Given the description of an element on the screen output the (x, y) to click on. 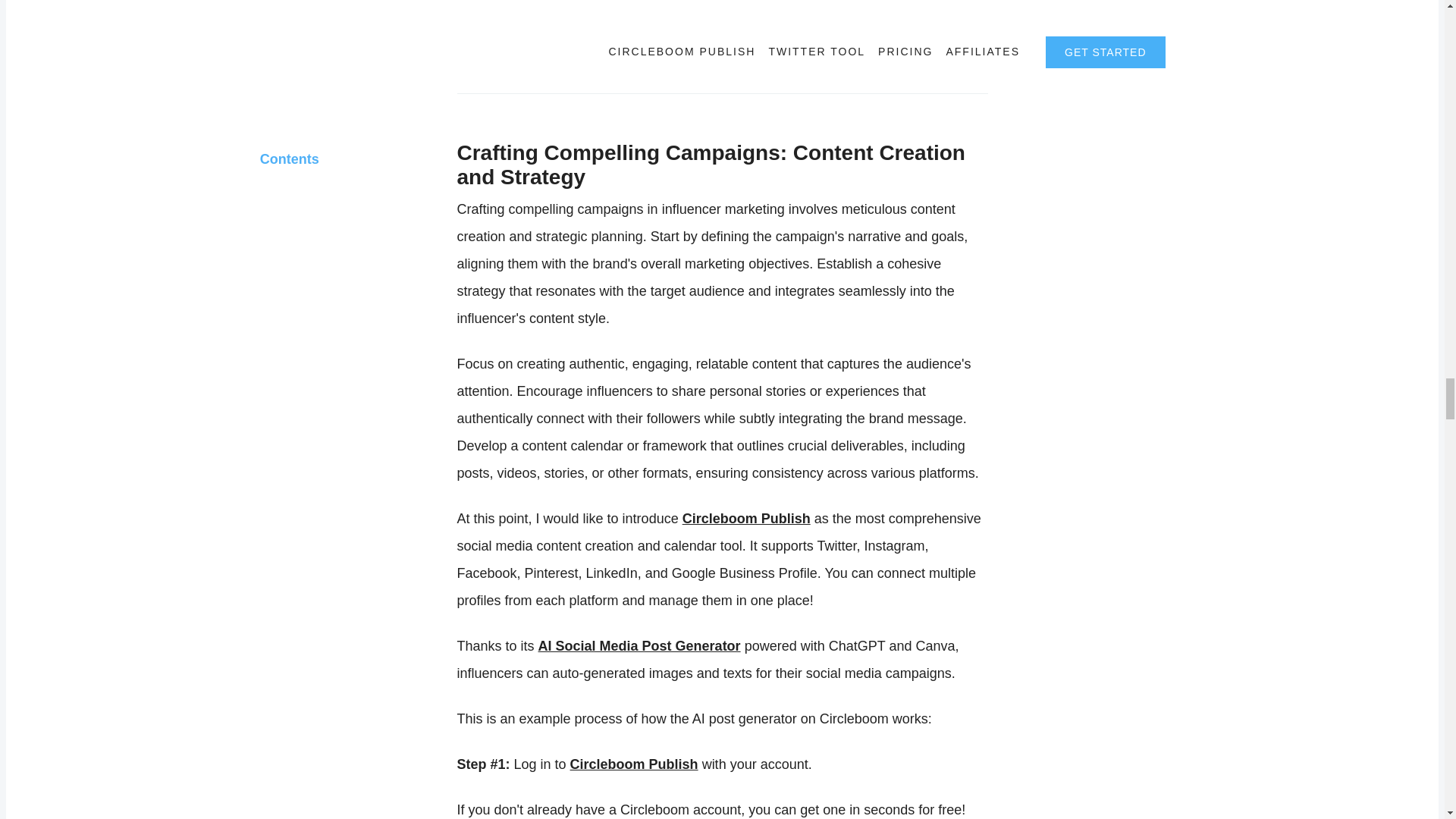
Circleboom Publish (746, 518)
Circleboom Publish (634, 764)
AI Social Media Post Generator (639, 645)
